Given the description of an element on the screen output the (x, y) to click on. 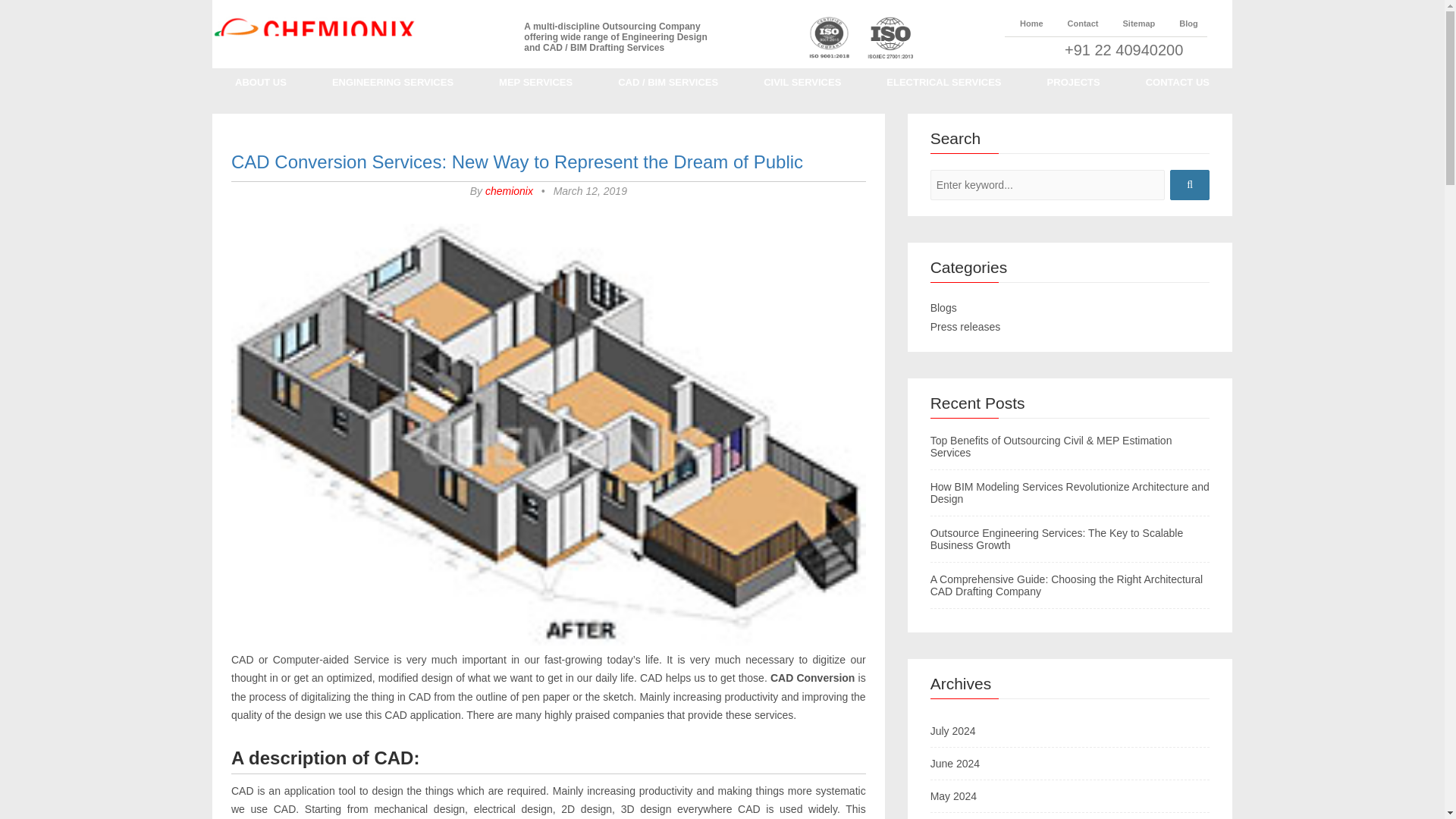
Home (1023, 23)
ENGINEERING SERVICES (393, 81)
ABOUT US (260, 81)
Blog (1179, 23)
Sitemap (1132, 23)
MEP SERVICES (535, 81)
Contact (1075, 23)
